Given the description of an element on the screen output the (x, y) to click on. 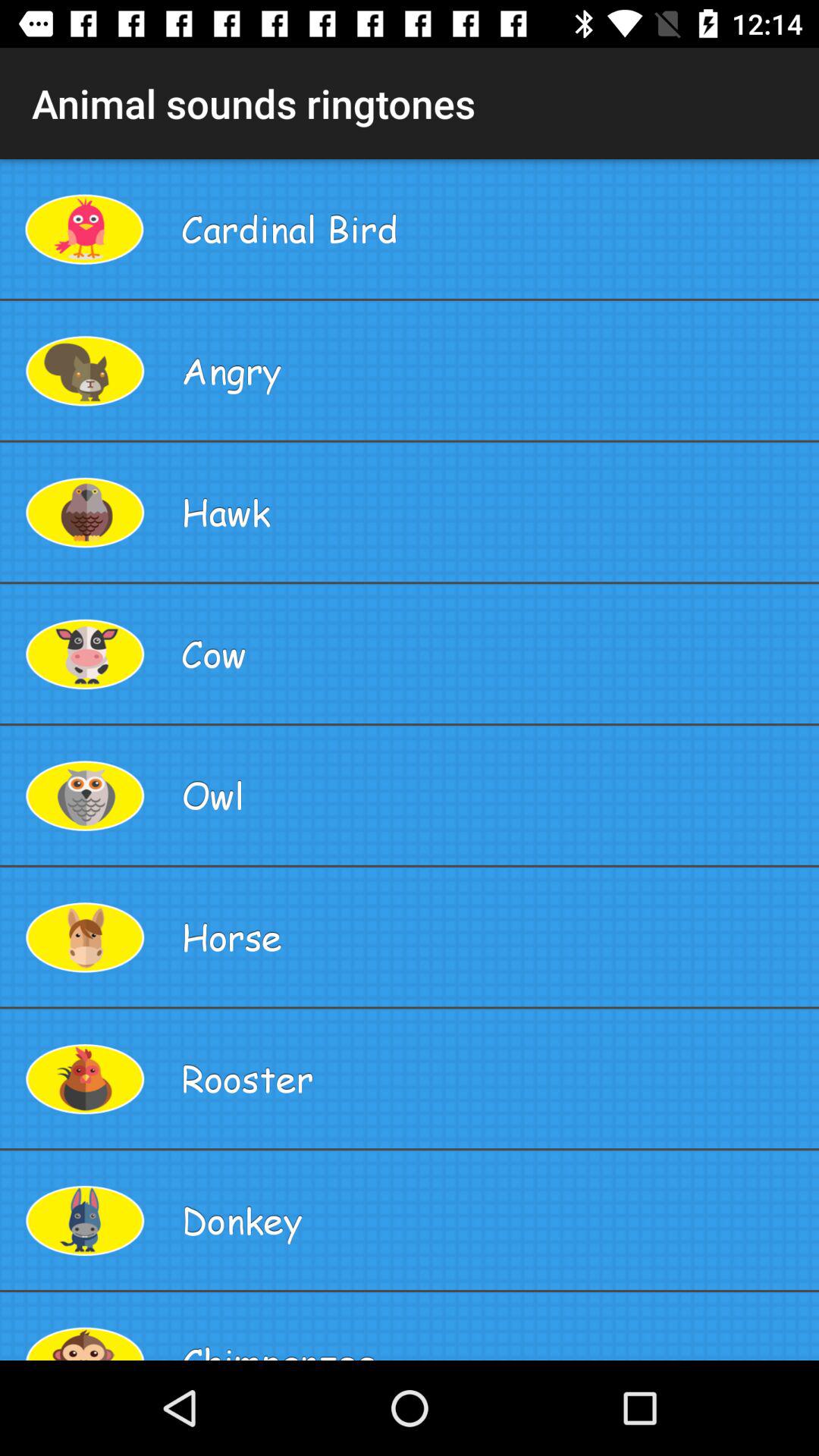
swipe to the cardinal bird icon (494, 228)
